Given the description of an element on the screen output the (x, y) to click on. 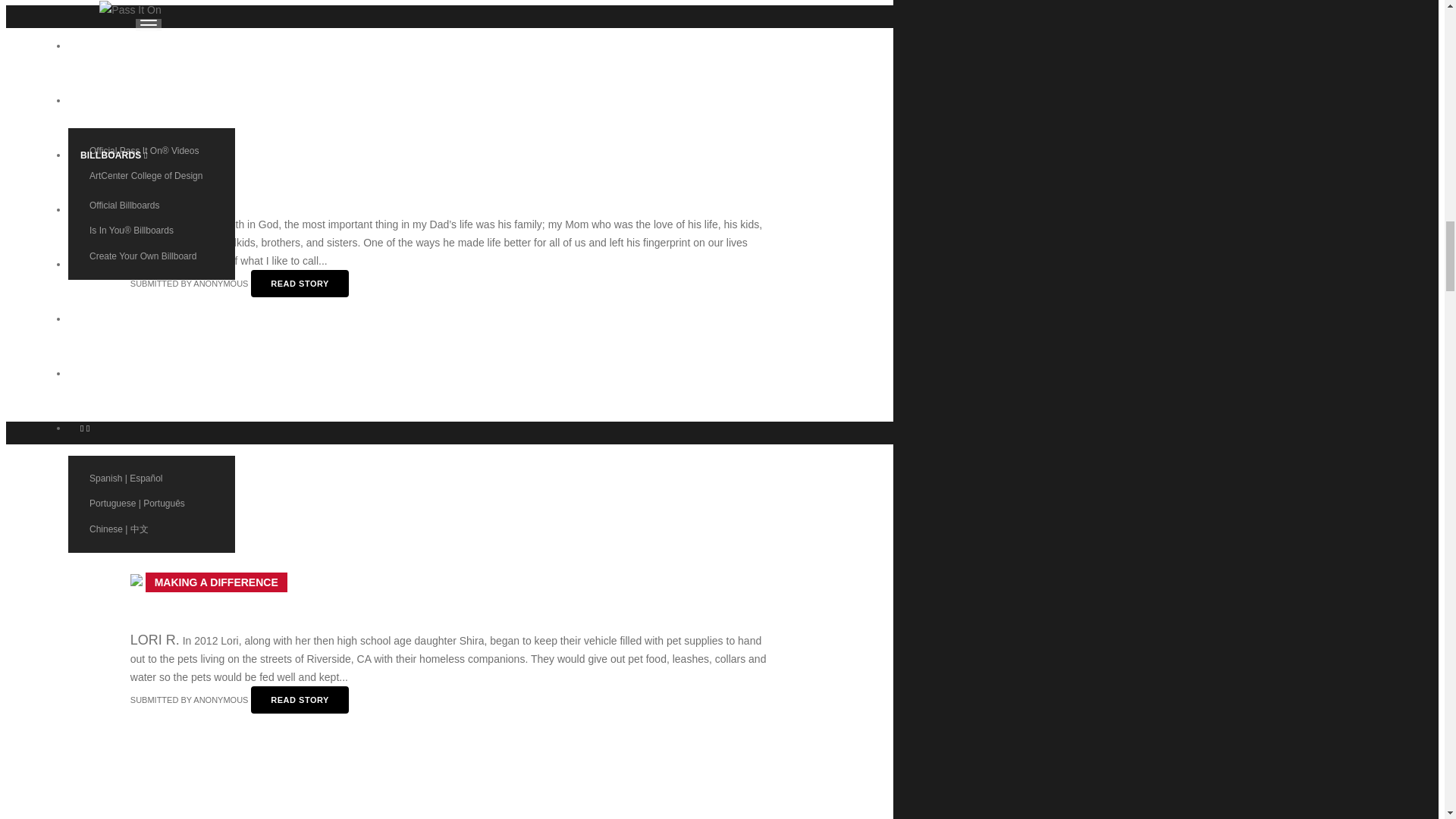
FAMILY (158, 165)
MAKING A DIFFERENCE (215, 581)
READ STORY (299, 283)
